Given the description of an element on the screen output the (x, y) to click on. 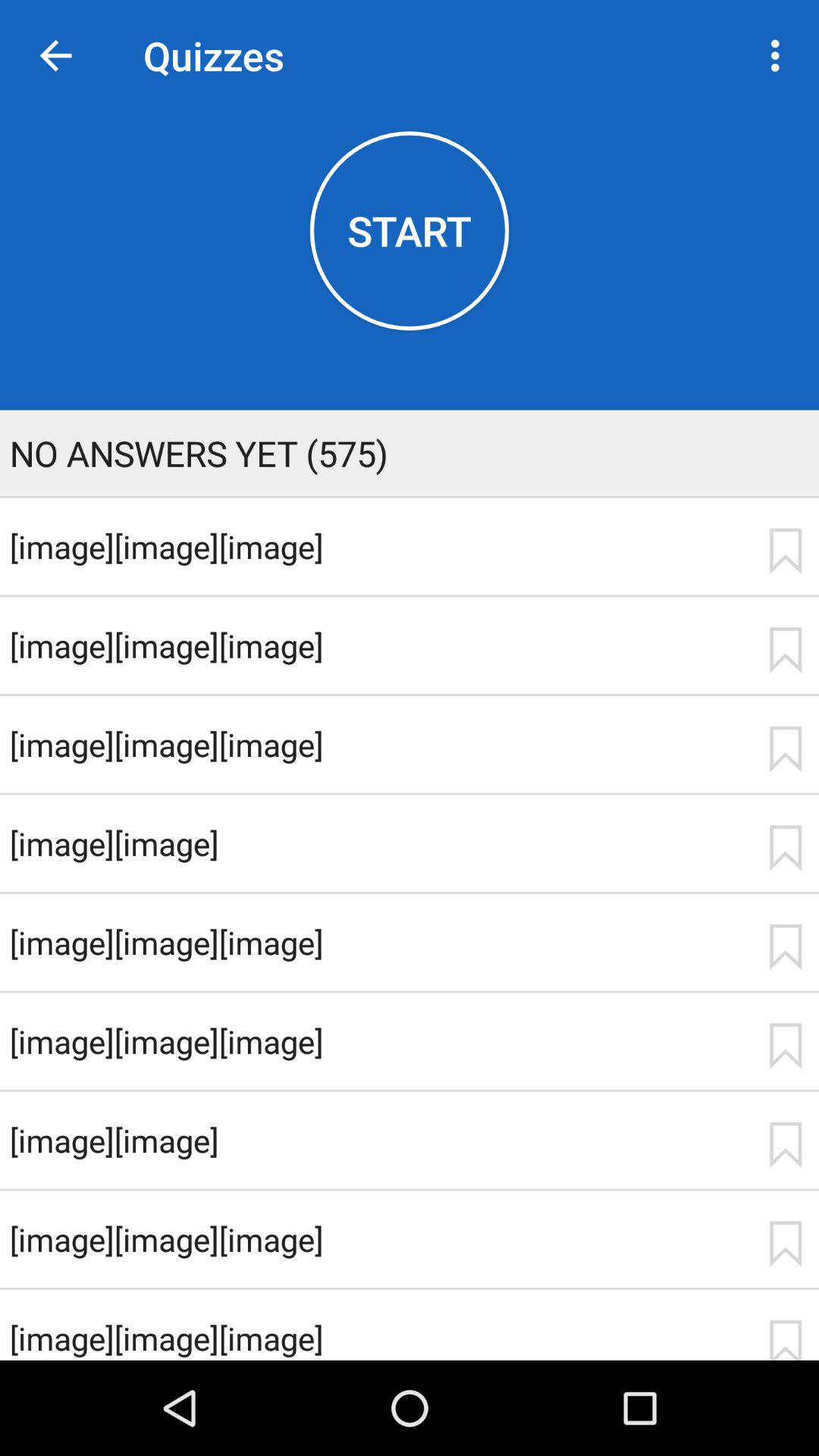
tap icon to the right of the [image][image][image] icon (784, 1339)
